Given the description of an element on the screen output the (x, y) to click on. 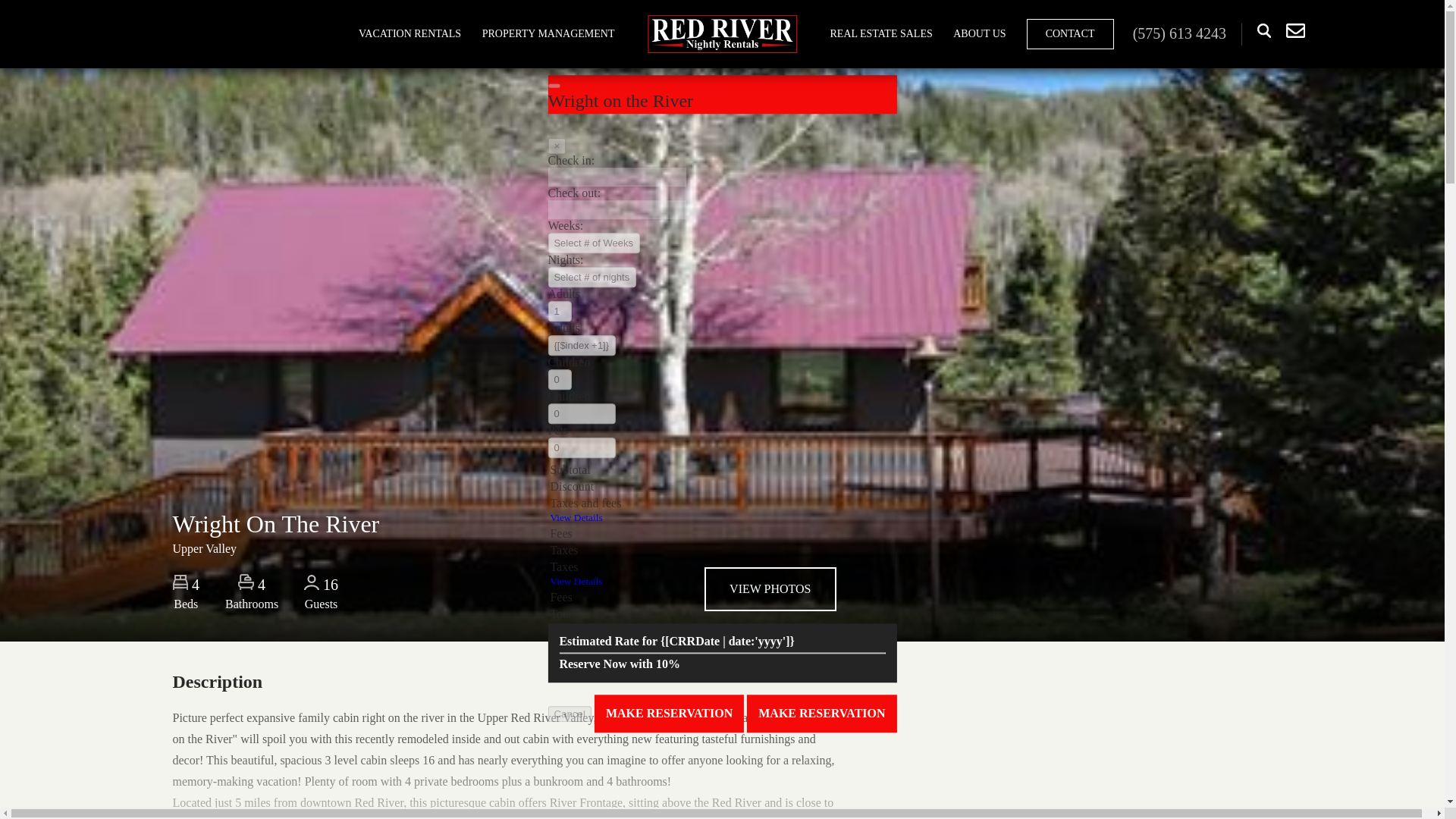
ABOUT US (978, 34)
CONTACT (1069, 33)
VACATION RENTALS (409, 34)
VIEW PHOTOS (769, 588)
X (1438, 8)
PROPERTY MANAGEMENT (548, 34)
REAL ESTATE SALES (880, 34)
